Given the description of an element on the screen output the (x, y) to click on. 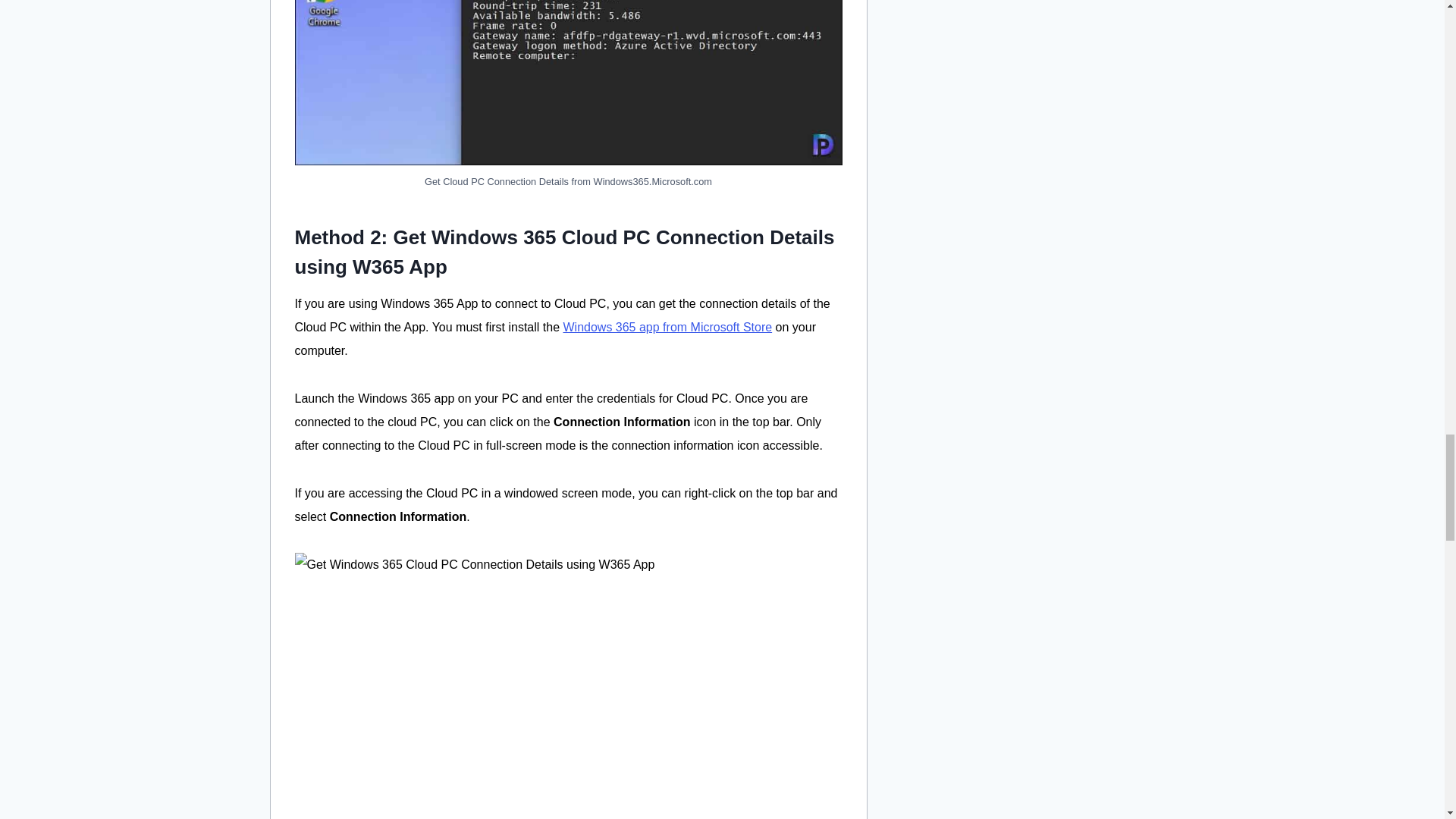
2 Ways to Get Windows 365 Cloud PC Connection Details 3 (567, 82)
Windows 365 app from Microsoft Store (666, 327)
